Given the description of an element on the screen output the (x, y) to click on. 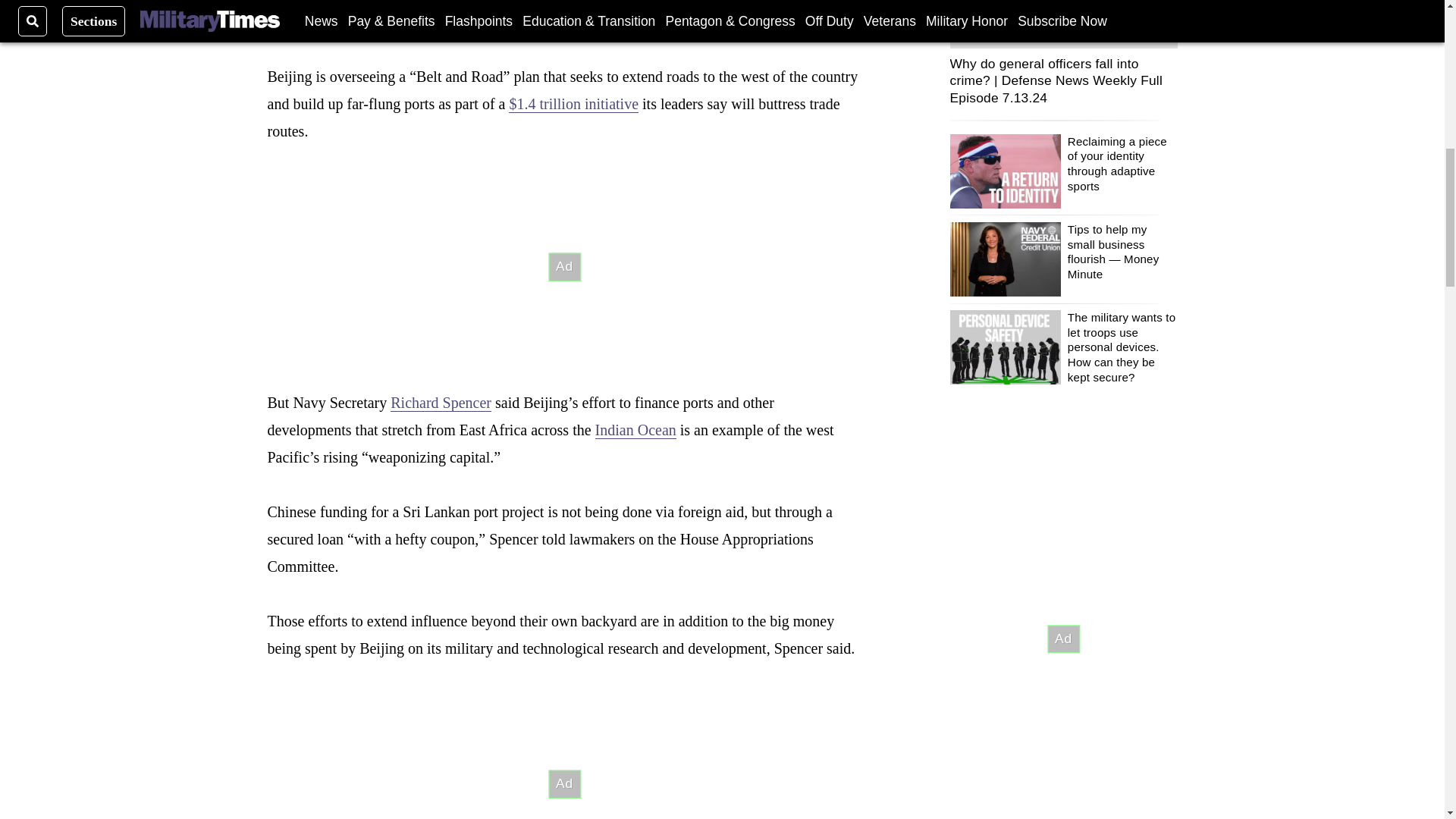
3rd party ad content (1062, 638)
3rd party ad content (563, 266)
3rd party ad content (563, 754)
